Given the description of an element on the screen output the (x, y) to click on. 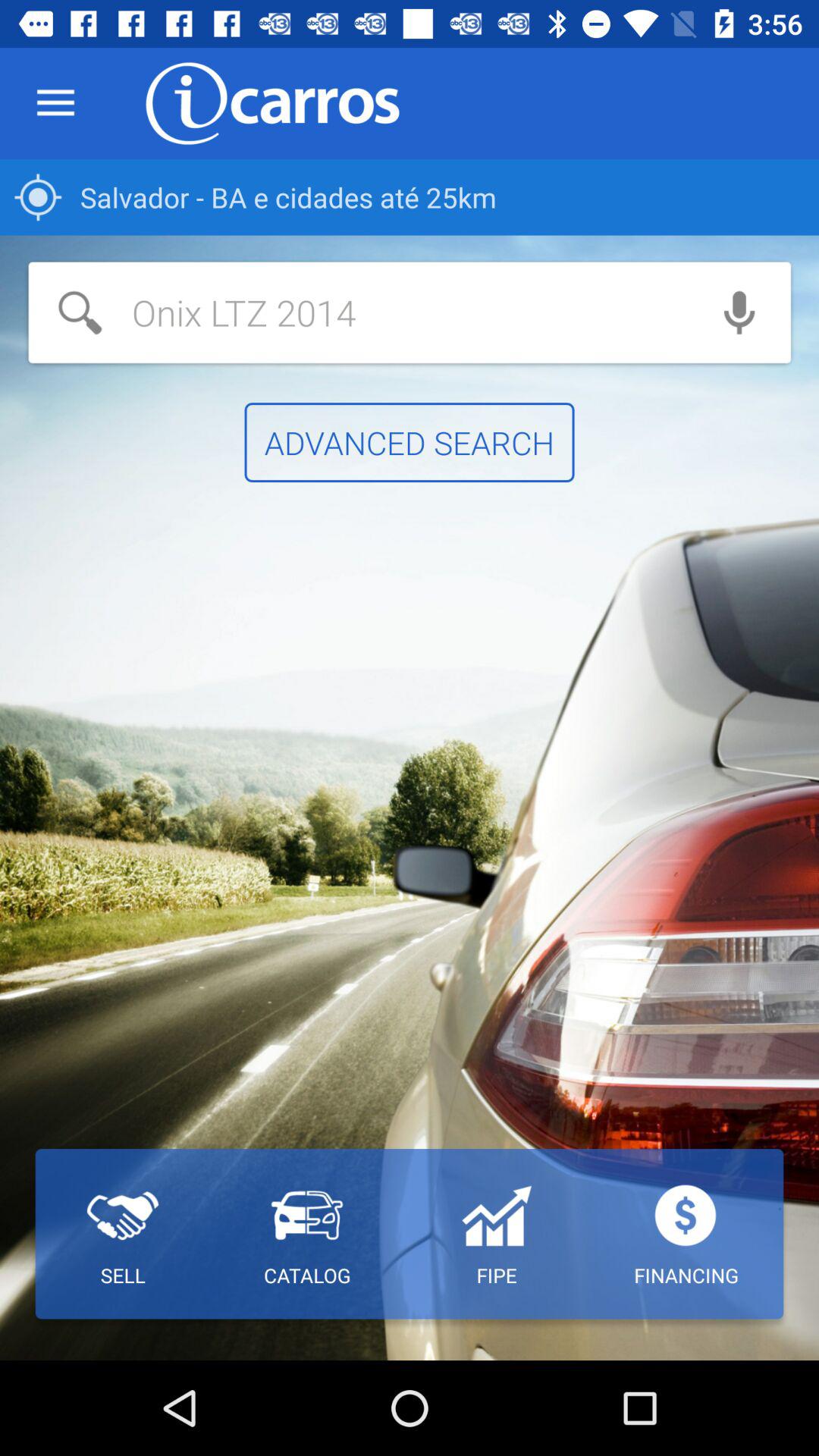
turn off the icon at the top right corner (739, 312)
